Given the description of an element on the screen output the (x, y) to click on. 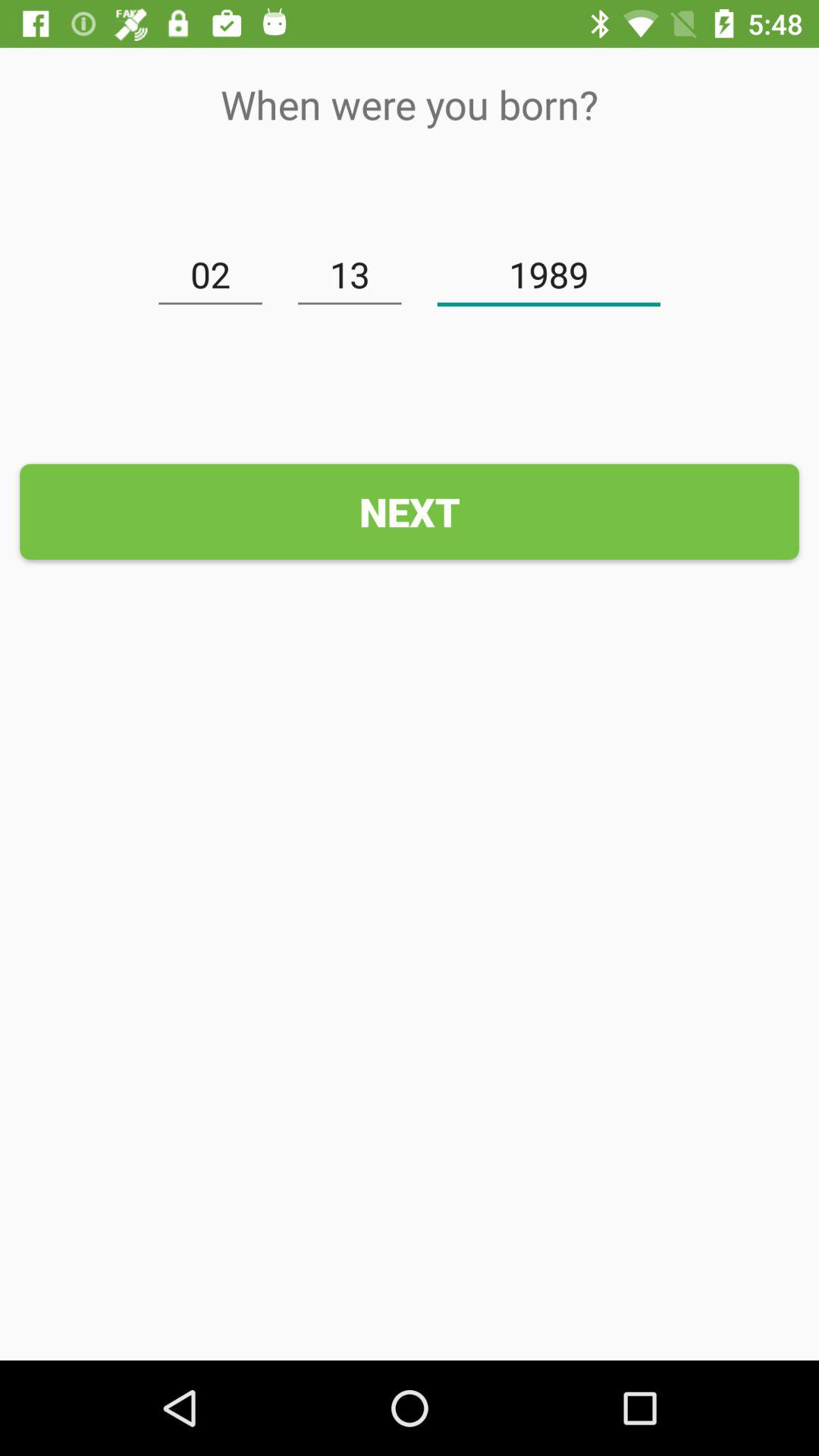
open icon above next icon (548, 275)
